Given the description of an element on the screen output the (x, y) to click on. 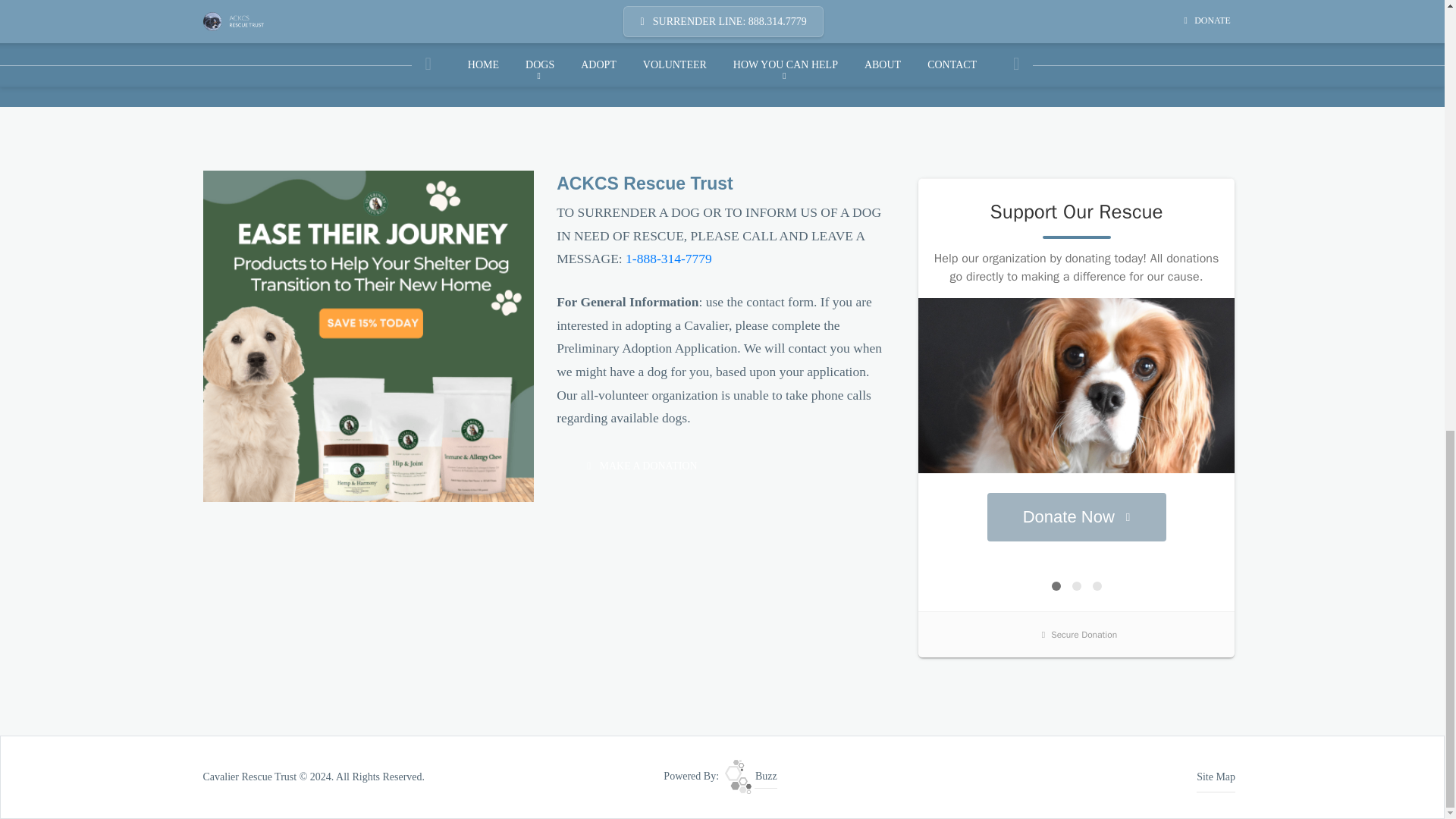
Site Map (1215, 777)
Buzz (750, 776)
MAKE A DONATION (634, 466)
Donate (634, 466)
Cavalier Rescue Trust's Sponsor (368, 335)
Rescue Your Rescues (750, 776)
1-888-314-7779 (668, 258)
CALL (668, 258)
